Given the description of an element on the screen output the (x, y) to click on. 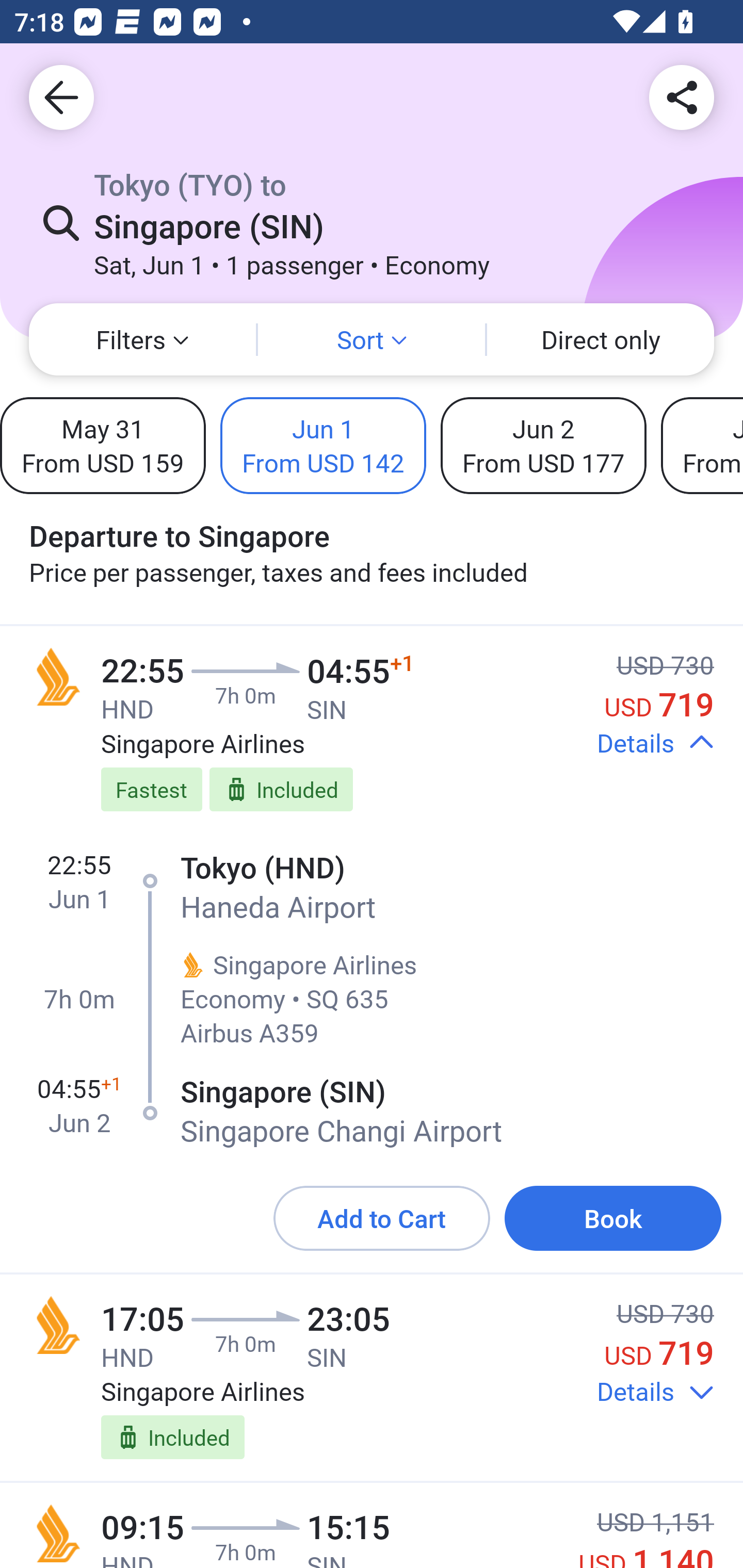
Filters (141, 339)
Sort (371, 339)
Direct only (600, 339)
May 31 From USD 159 (102, 444)
Jun 1 From USD 142 (323, 444)
Jun 2 From USD 177 (543, 444)
Add to Cart (381, 1218)
Book (612, 1218)
